Given the description of an element on the screen output the (x, y) to click on. 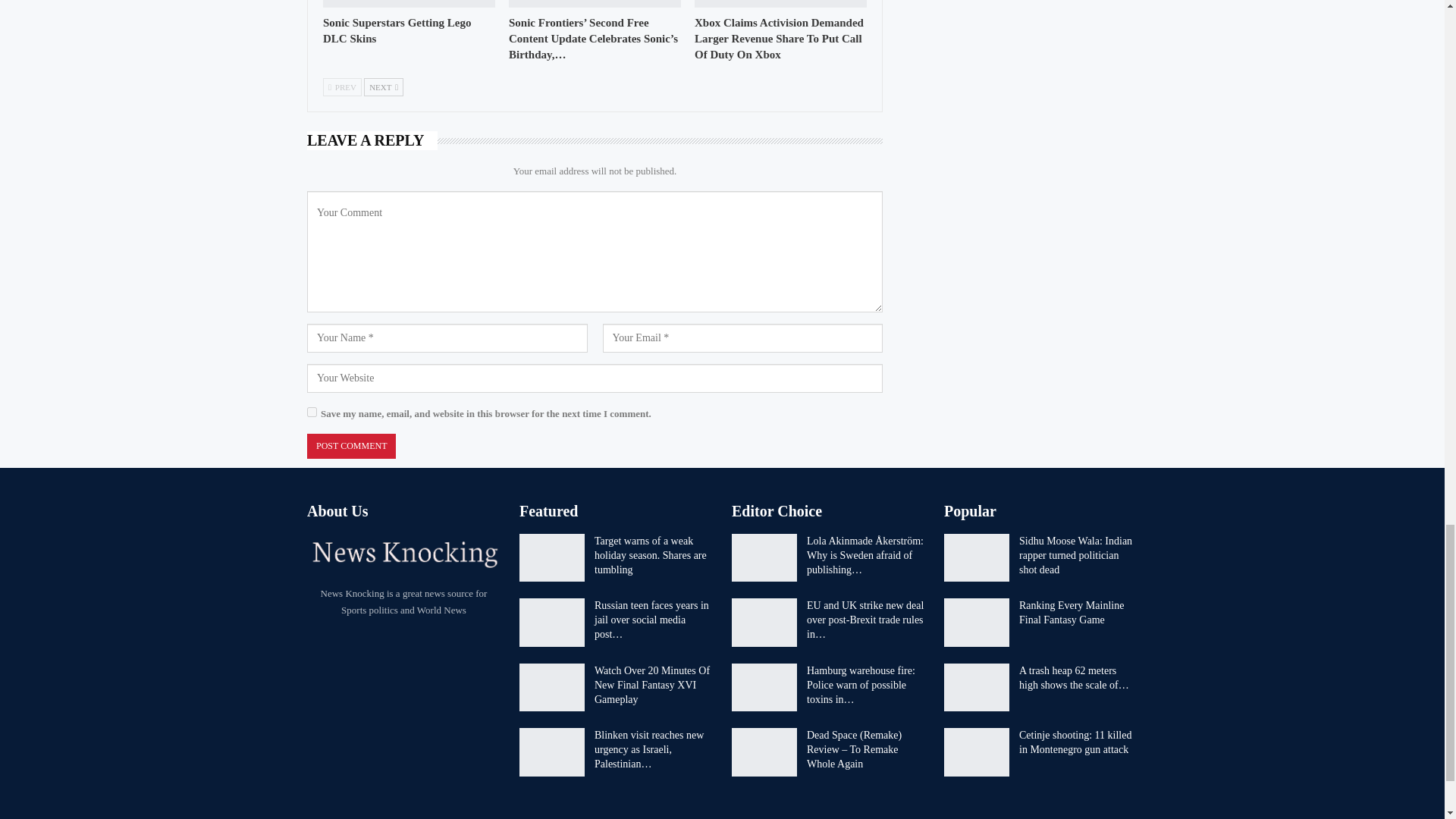
Sonic Superstars Getting Lego DLC Skins (396, 30)
Sonic Superstars Getting Lego DLC Skins (409, 3)
yes (312, 411)
Post Comment (351, 446)
